Given the description of an element on the screen output the (x, y) to click on. 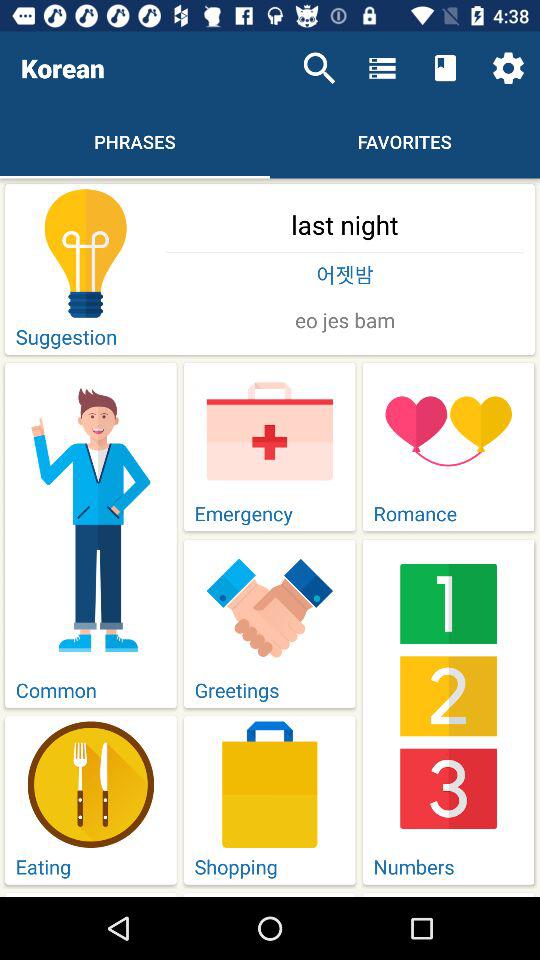
click the item above last night item (508, 67)
